Given the description of an element on the screen output the (x, y) to click on. 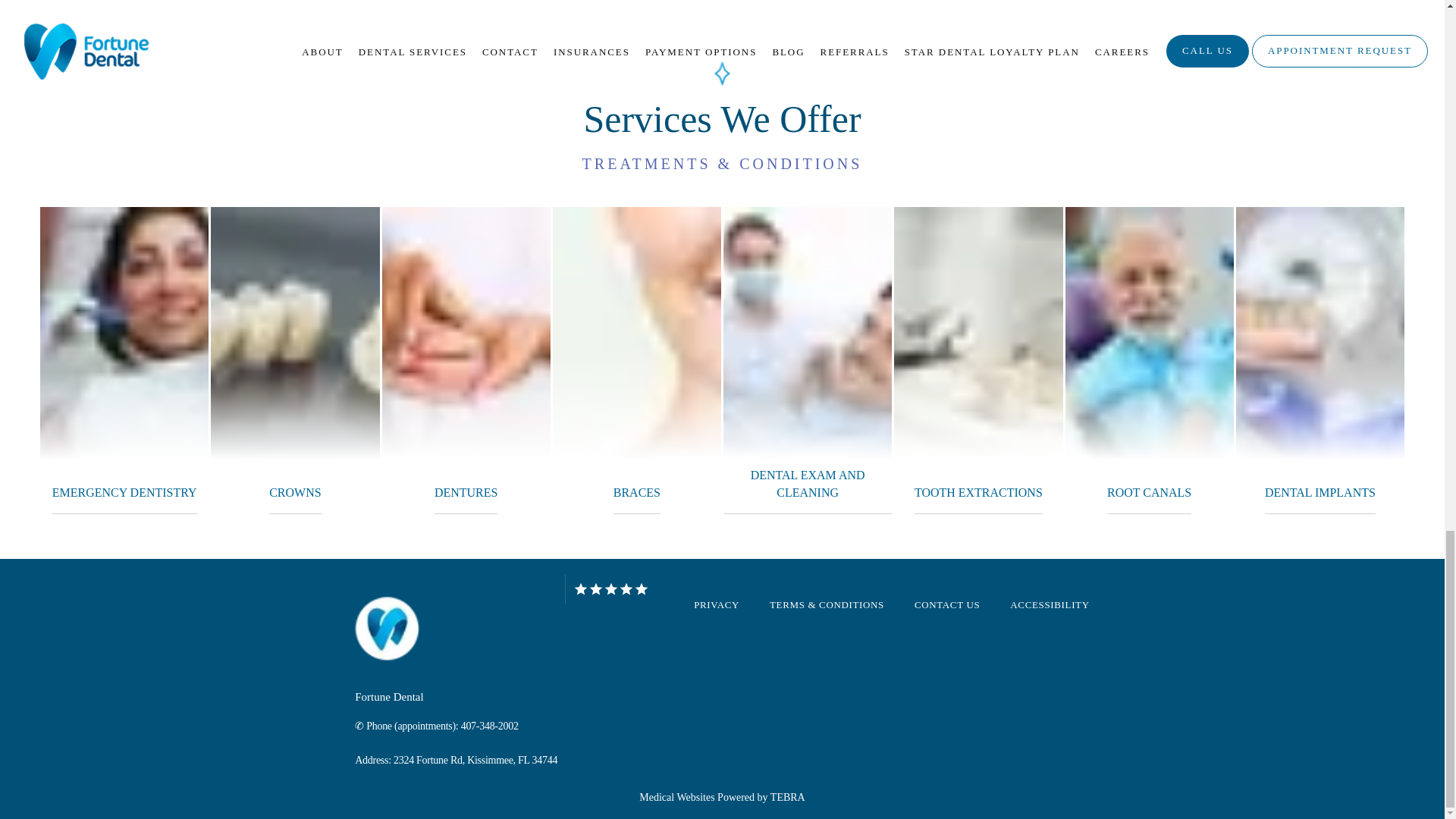
BRACES (636, 492)
CROWNS (294, 492)
DENTAL EXAM AND CLEANING (807, 483)
DENTURES (465, 492)
DENTAL IMPLANTS (1320, 492)
TOOTH EXTRACTIONS (978, 492)
EMERGENCY DENTISTRY (124, 492)
PRIVACY (716, 604)
ROOT CANALS (1148, 492)
